Given the description of an element on the screen output the (x, y) to click on. 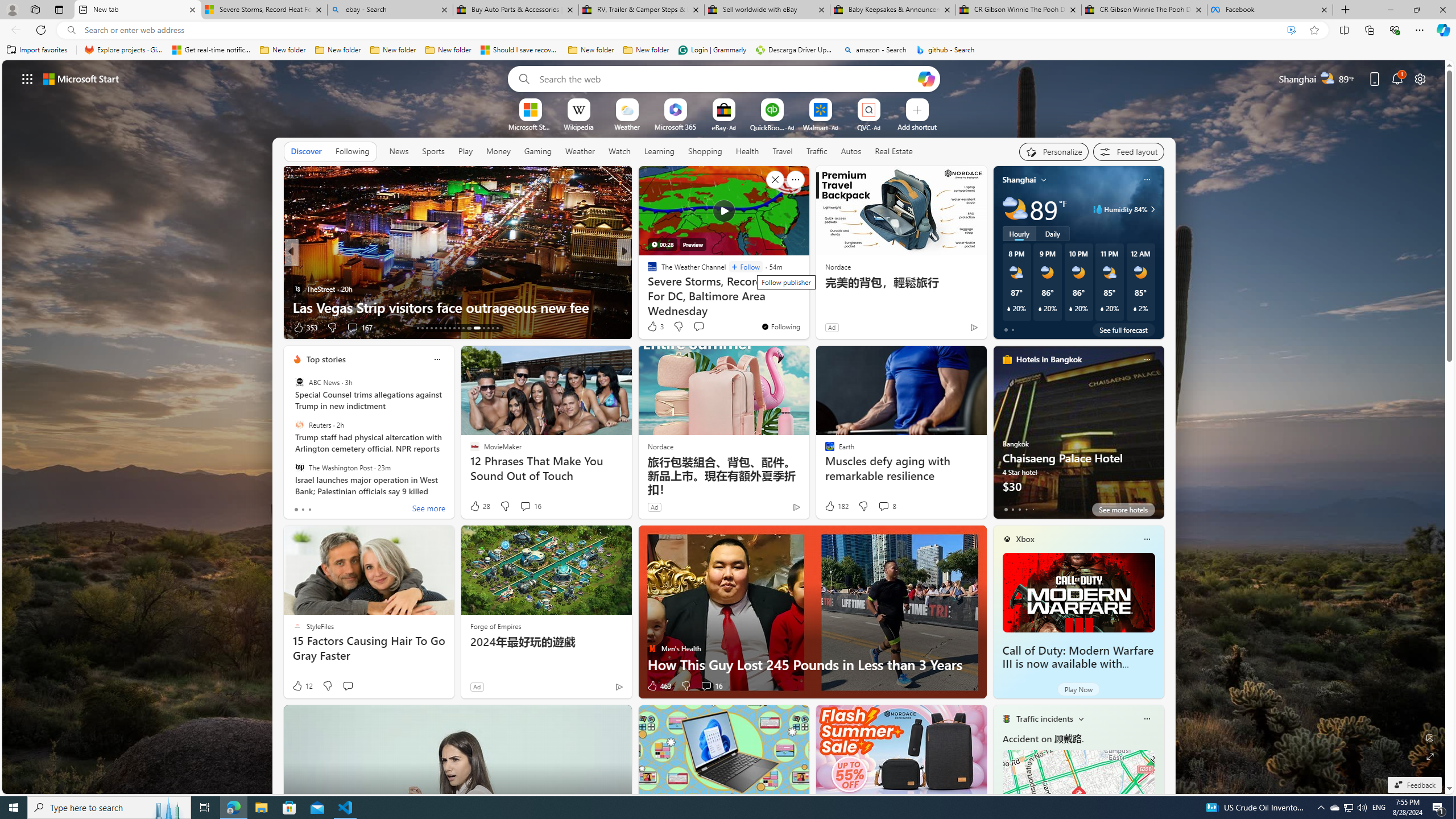
AutomationID: tab-27 (488, 328)
Real Estate (893, 151)
tab-1 (1012, 509)
116 Like (654, 327)
AutomationID: tab-19 (444, 328)
Traffic (816, 151)
tab-0 (1005, 509)
RV, Trailer & Camper Steps & Ladders for sale | eBay (641, 9)
Ad Choice (619, 686)
amazon - Search (875, 49)
AutomationID: tab-22 (458, 328)
